Given the description of an element on the screen output the (x, y) to click on. 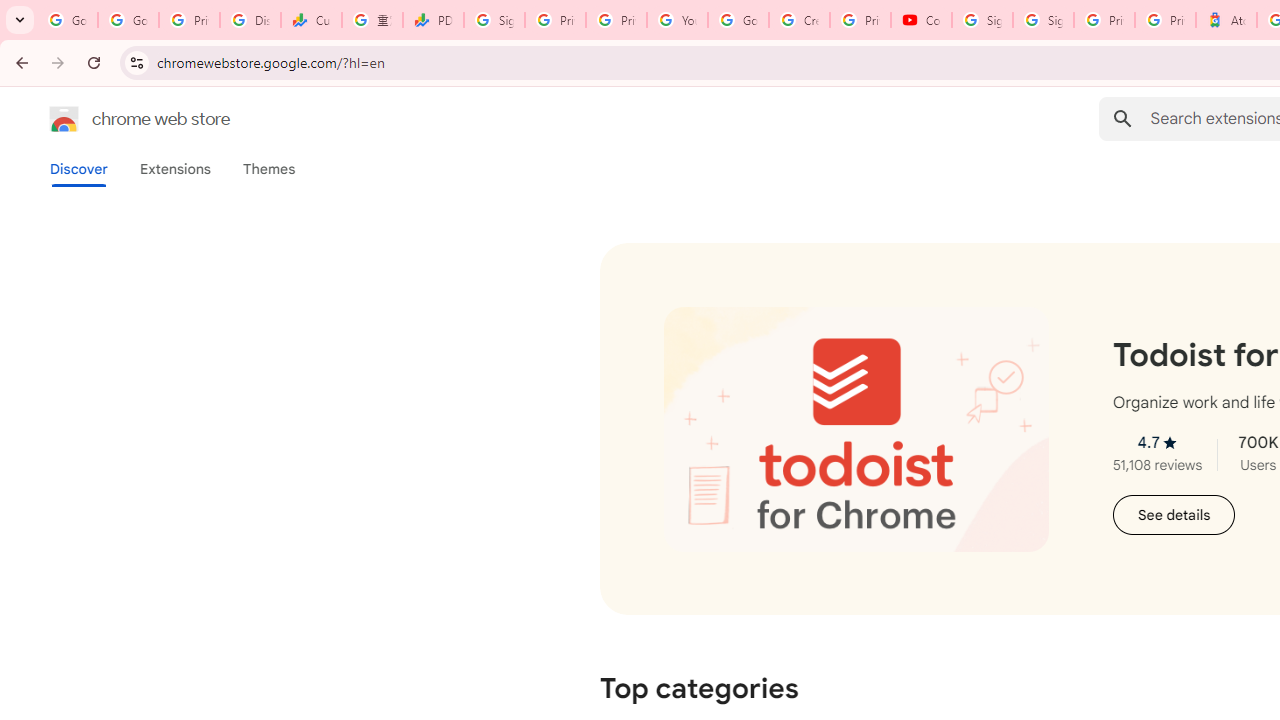
Sign in - Google Accounts (493, 20)
Create your Google Account (799, 20)
Themes (269, 169)
Chrome Web Store logo chrome web store (118, 118)
Sign in - Google Accounts (1042, 20)
Discover (79, 169)
Chrome Web Store logo (63, 118)
Google Account Help (738, 20)
YouTube (676, 20)
